Given the description of an element on the screen output the (x, y) to click on. 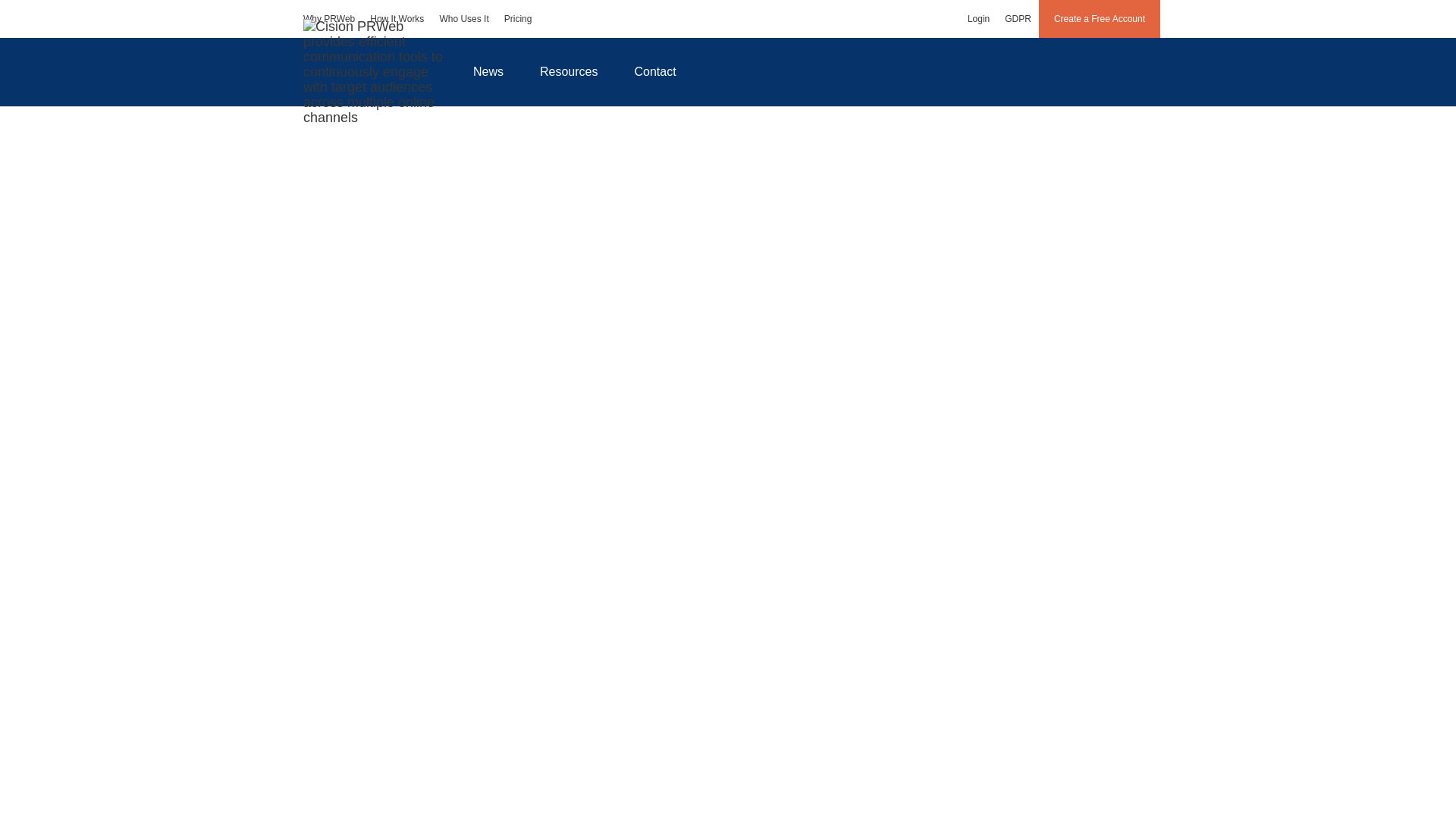
Who Uses It (463, 18)
Create a Free Account (1099, 18)
Why PRWeb (328, 18)
GDPR (1018, 18)
How It Works (396, 18)
Pricing (518, 18)
Login (978, 18)
News (487, 71)
Resources (568, 71)
Contact (654, 71)
